Given the description of an element on the screen output the (x, y) to click on. 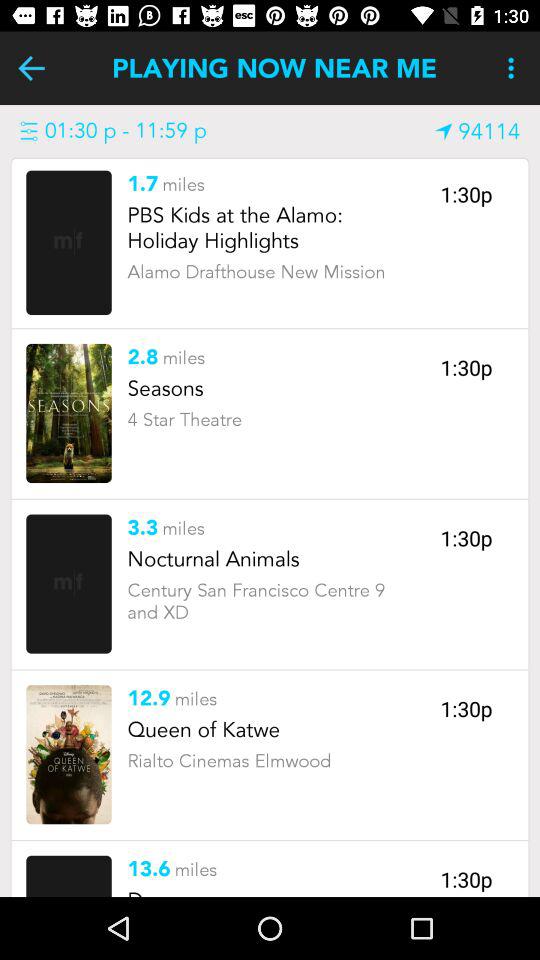
go to next (31, 67)
